Given the description of an element on the screen output the (x, y) to click on. 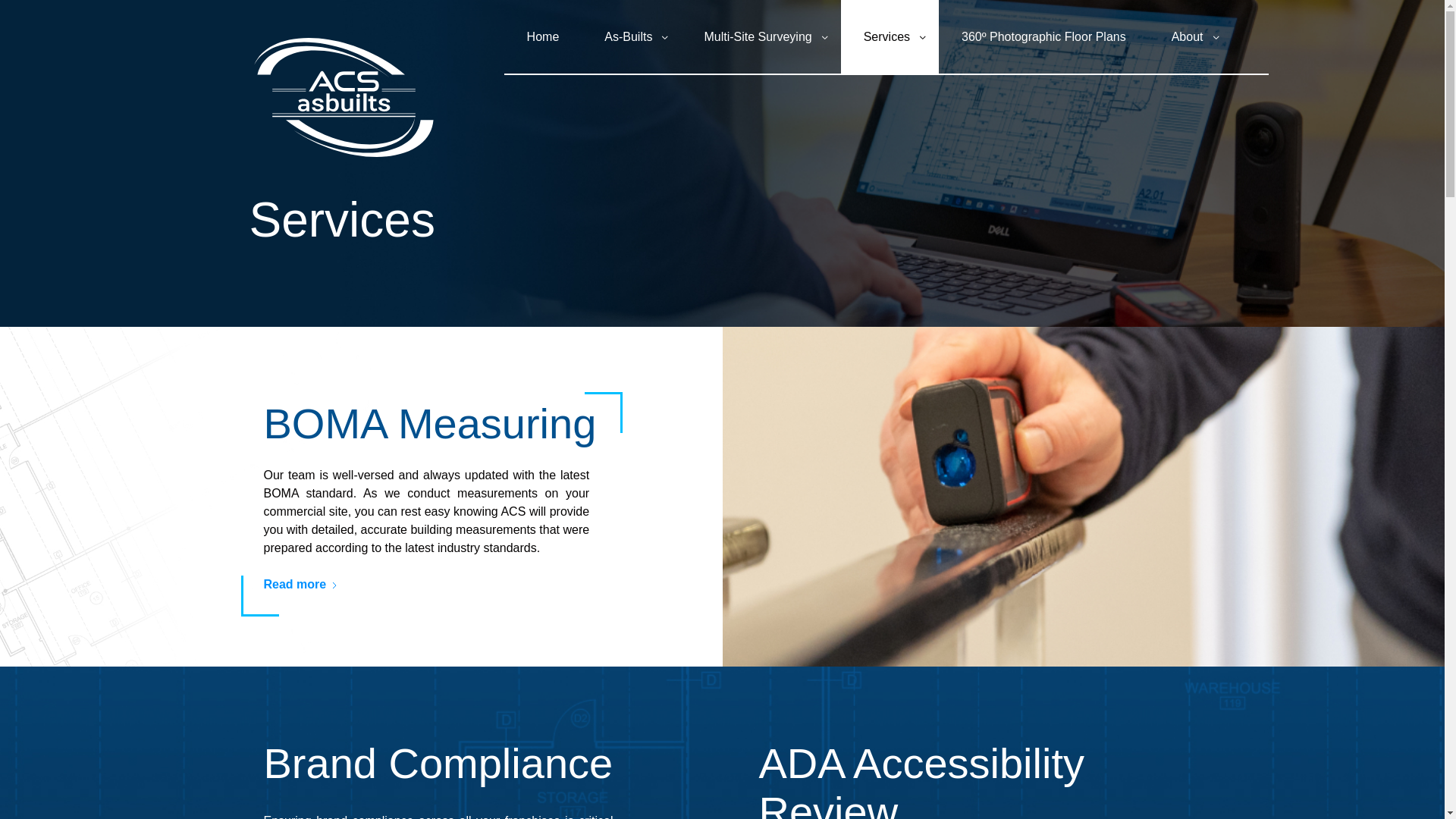
ACS asbuilts (343, 97)
Services (887, 36)
Home (542, 36)
As-Builts (627, 36)
Read more (300, 584)
Multi-Site Surveying (757, 36)
About (1186, 36)
